Given the description of an element on the screen output the (x, y) to click on. 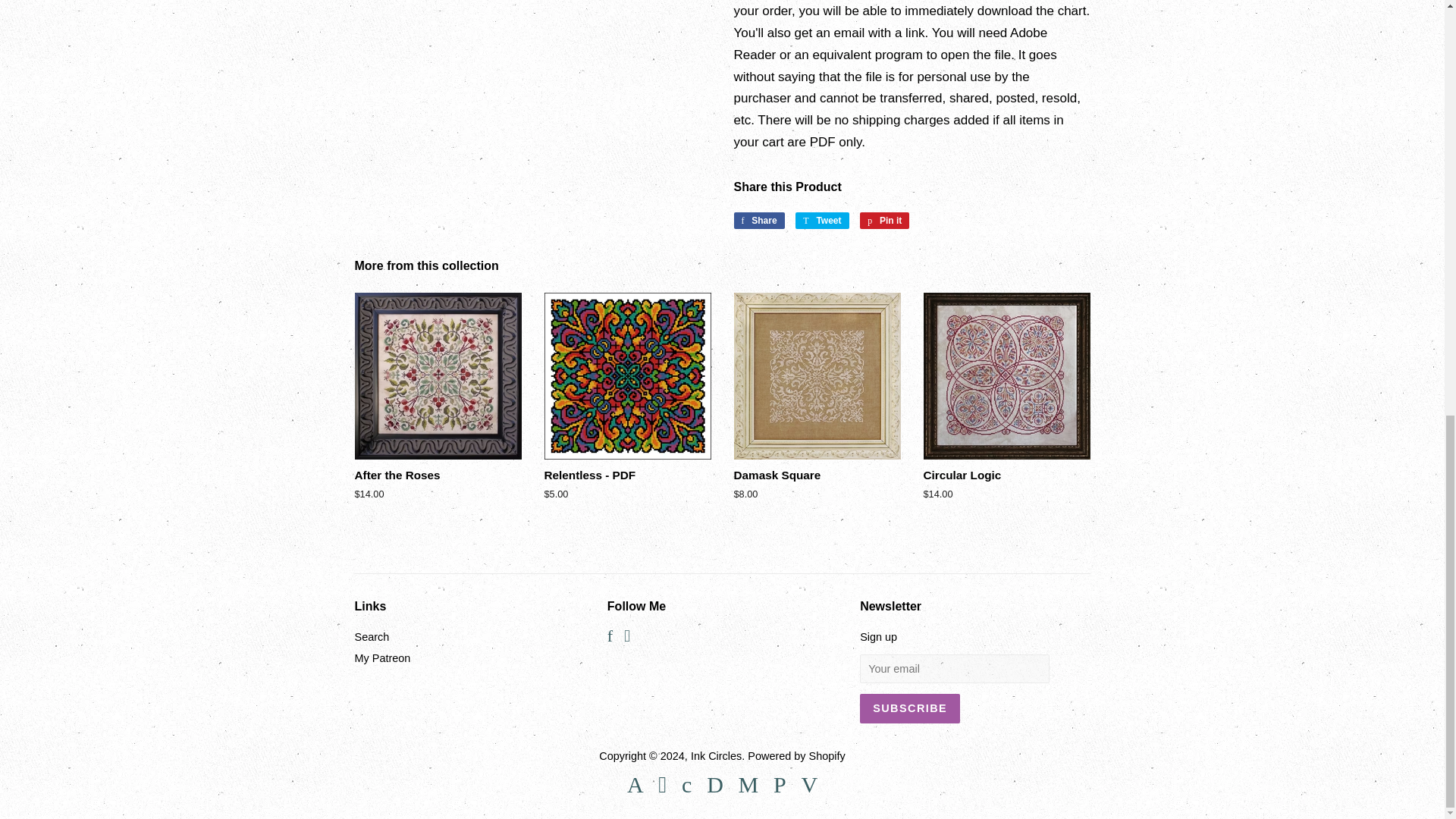
Subscribe (909, 708)
Share on Facebook (758, 220)
Pin on Pinterest (884, 220)
Tweet on Twitter (821, 220)
